Given the description of an element on the screen output the (x, y) to click on. 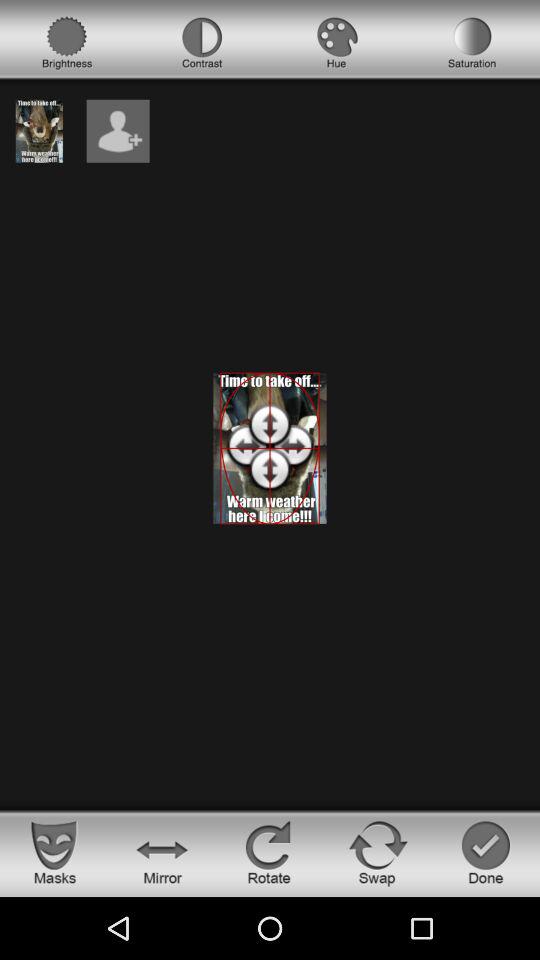
change the brightness level (67, 43)
